Given the description of an element on the screen output the (x, y) to click on. 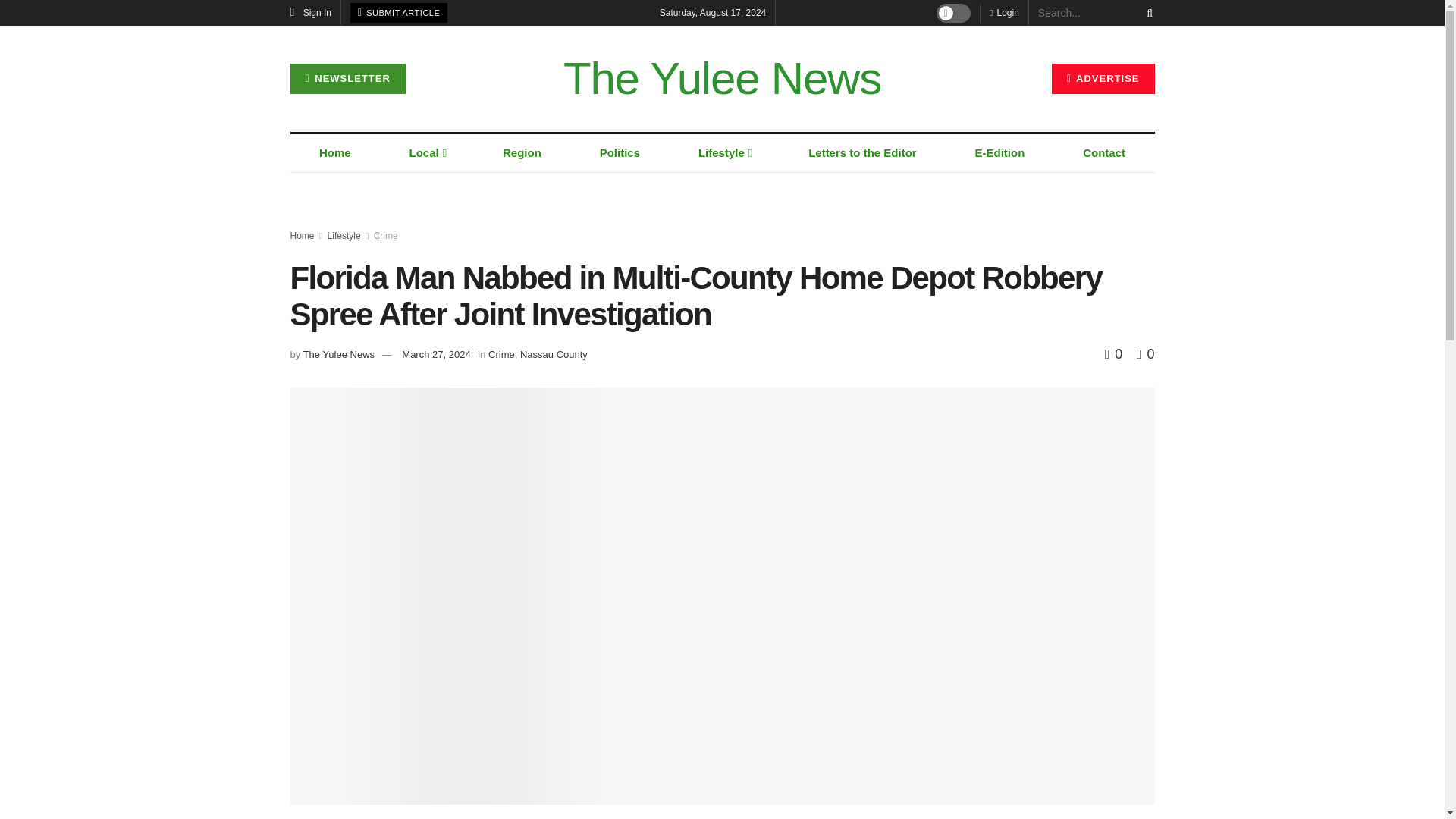
The Yulee News (721, 78)
ADVERTISE (1102, 78)
SUBMIT ARTICLE (398, 12)
Politics (619, 152)
Lifestyle (723, 152)
Region (522, 152)
Home (334, 152)
NEWSLETTER (346, 78)
Local (427, 152)
Sign In (310, 12)
